Given the description of an element on the screen output the (x, y) to click on. 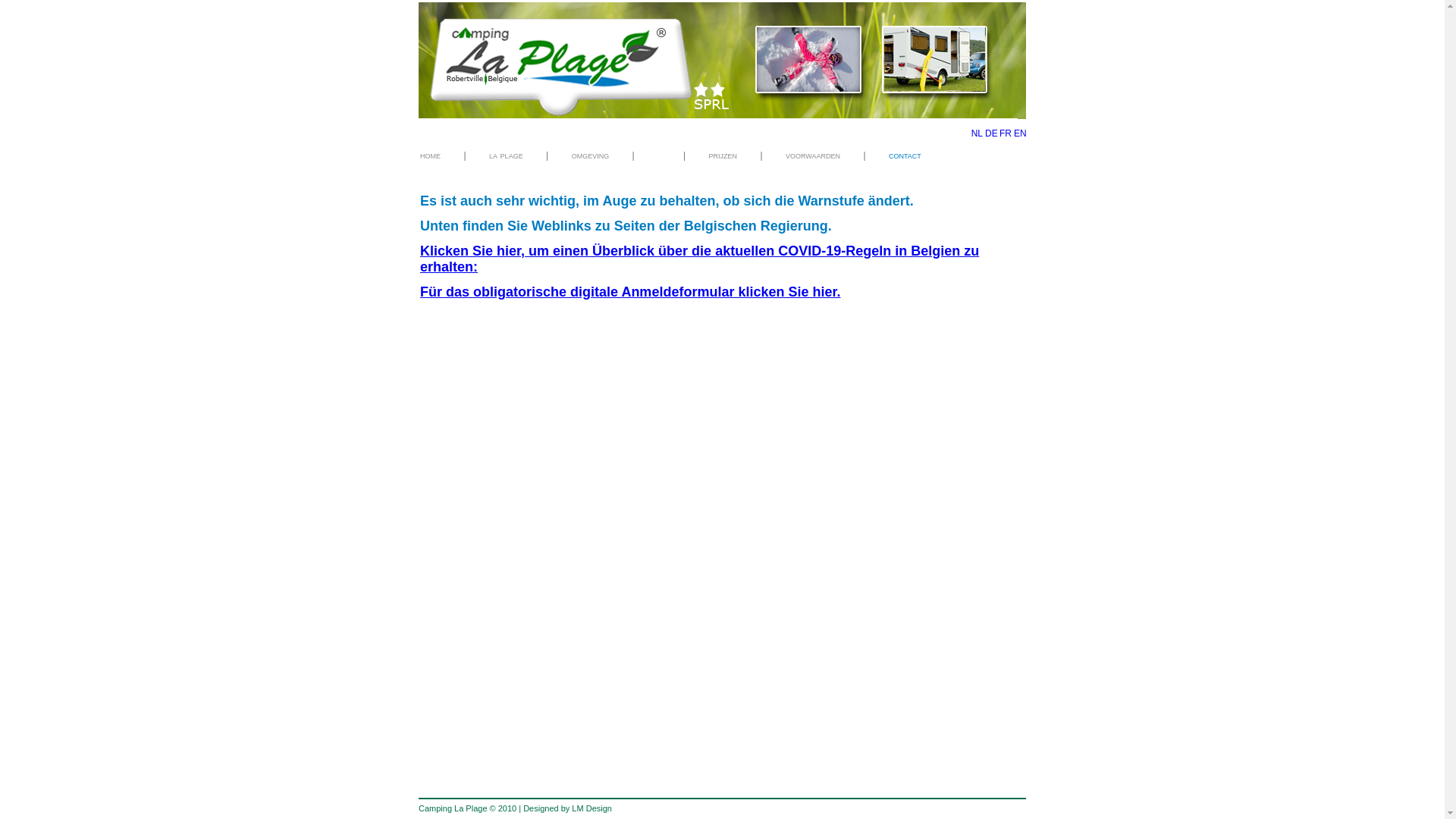
home Element type: text (430, 154)
prijzen Element type: text (722, 154)
omgeving Element type: text (590, 154)
voorwaarden Element type: text (812, 154)
la plage Element type: text (506, 154)
contact Element type: text (904, 154)
